Given the description of an element on the screen output the (x, y) to click on. 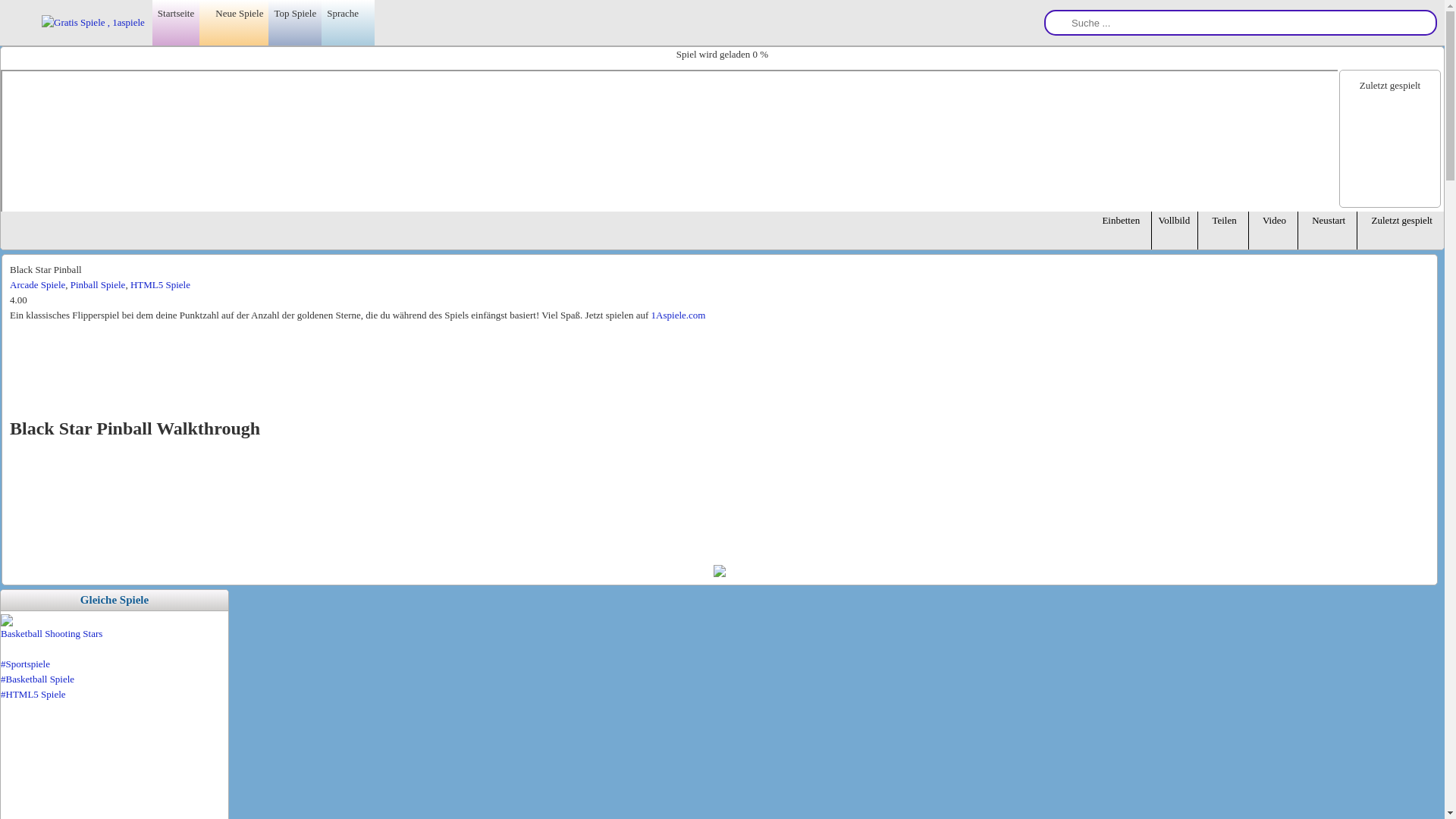
Zuletzt gespielt Element type: text (1401, 235)
Neue Spiele Element type: text (233, 24)
#HTML5 Spiele Element type: text (114, 694)
Basketball Shooting Stars Element type: text (51, 633)
Neustart Element type: text (1328, 235)
Startseite Element type: text (175, 24)
Arcade Spiele Element type: text (37, 284)
Video Element type: text (1274, 235)
1Aspiele.com Element type: text (678, 314)
Pinball Spiele Element type: text (97, 284)
Vollbild Element type: text (1176, 235)
HTML5 Spiele Element type: text (160, 284)
Teilen Element type: text (1224, 235)
Einbetten Element type: text (1120, 235)
#Basketball Spiele Element type: text (114, 679)
#Sportspiele Element type: text (114, 663)
Top Spiele Element type: text (294, 24)
